Given the description of an element on the screen output the (x, y) to click on. 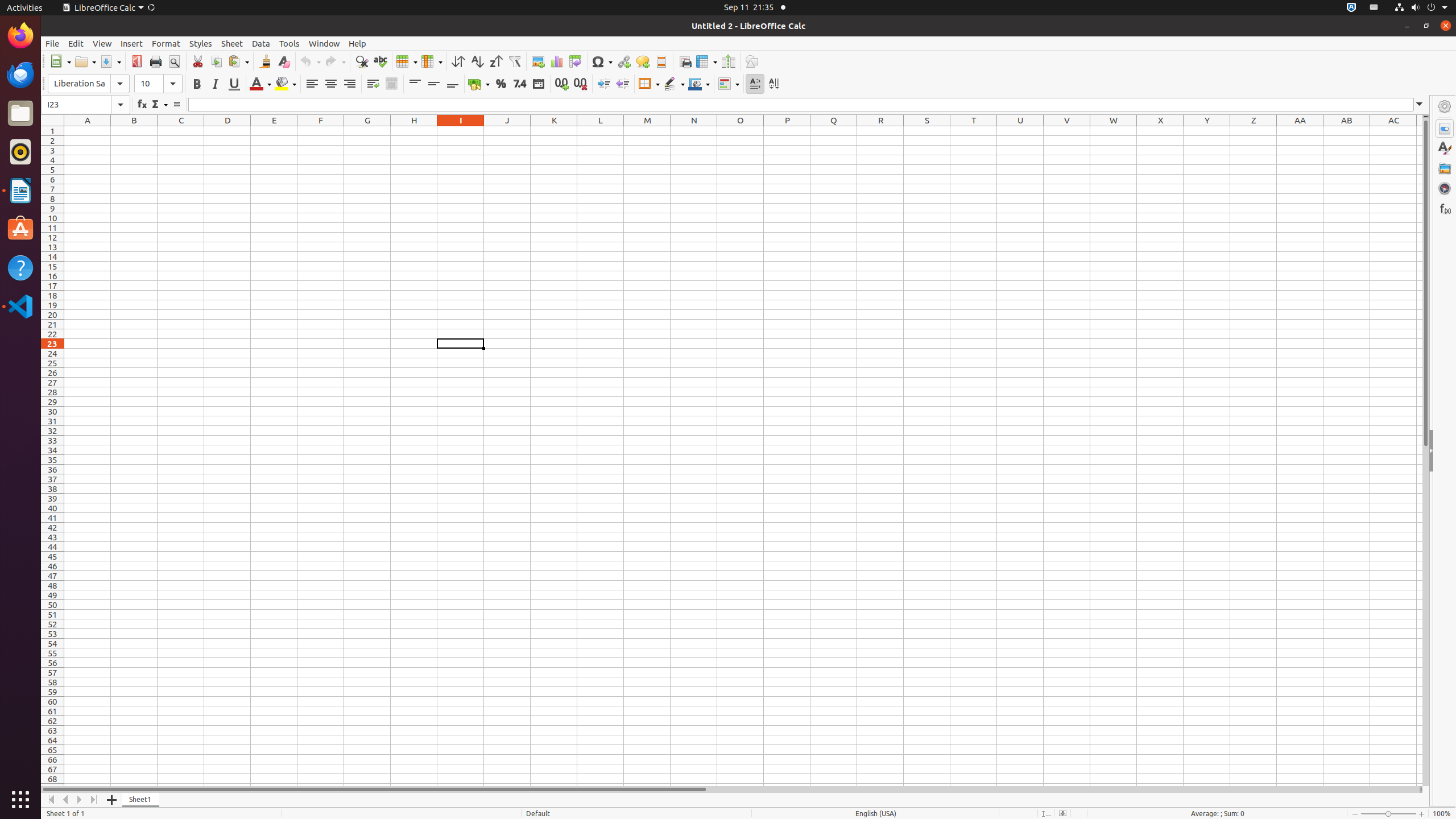
Border Color Element type: push-button (698, 83)
Decrease Element type: push-button (622, 83)
Functions Element type: radio-button (1444, 208)
Text direction from top to bottom Element type: toggle-button (773, 83)
Insert Element type: menu (131, 43)
